Given the description of an element on the screen output the (x, y) to click on. 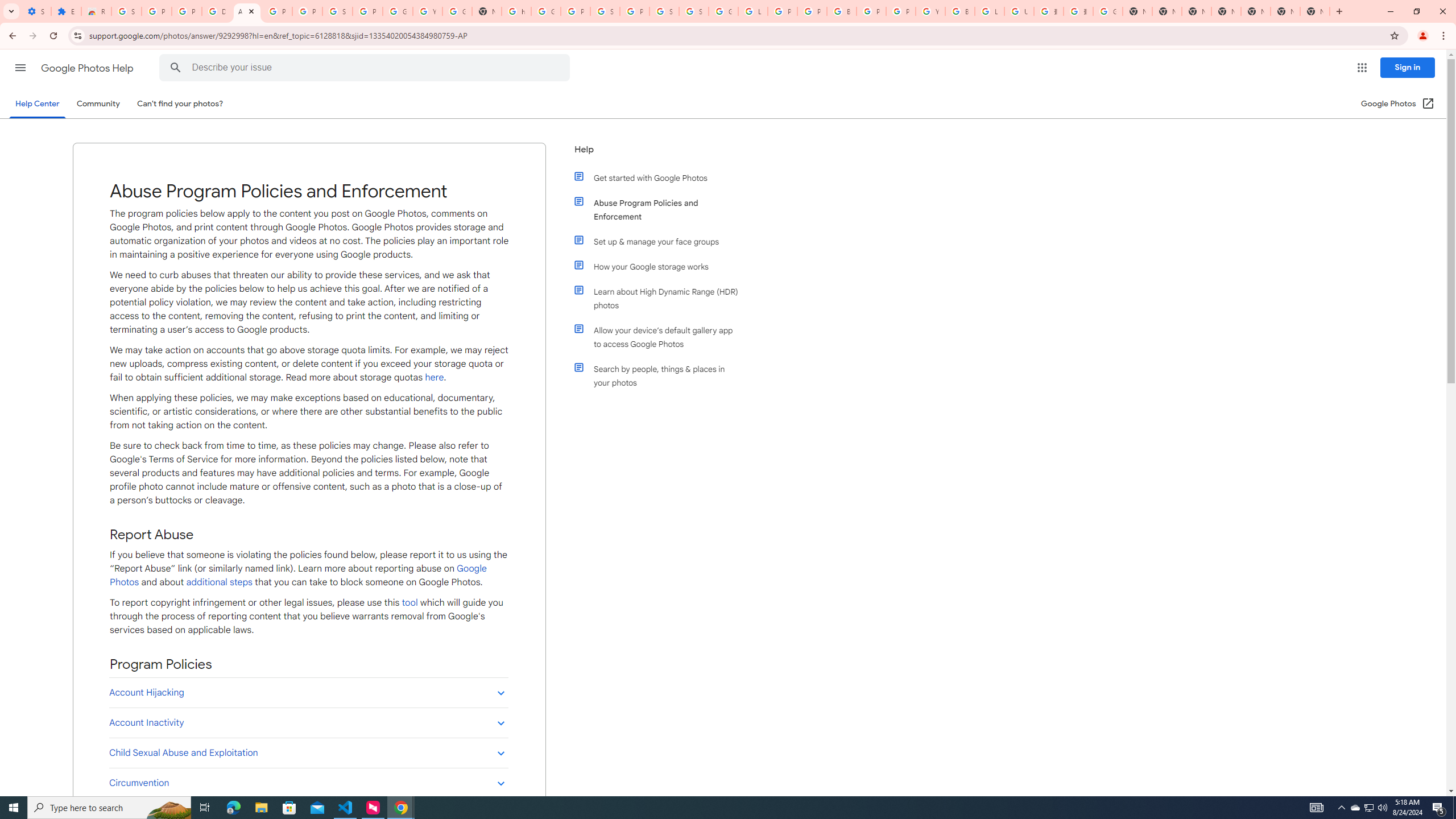
Help (656, 153)
New Tab (1314, 11)
Google apps (1362, 67)
How your Google storage works (661, 266)
Address and search bar (735, 35)
Privacy Help Center - Policies Help (811, 11)
Settings - On startup (36, 11)
Main menu (20, 67)
Can't find your photos? (180, 103)
additional steps (218, 582)
